Given the description of an element on the screen output the (x, y) to click on. 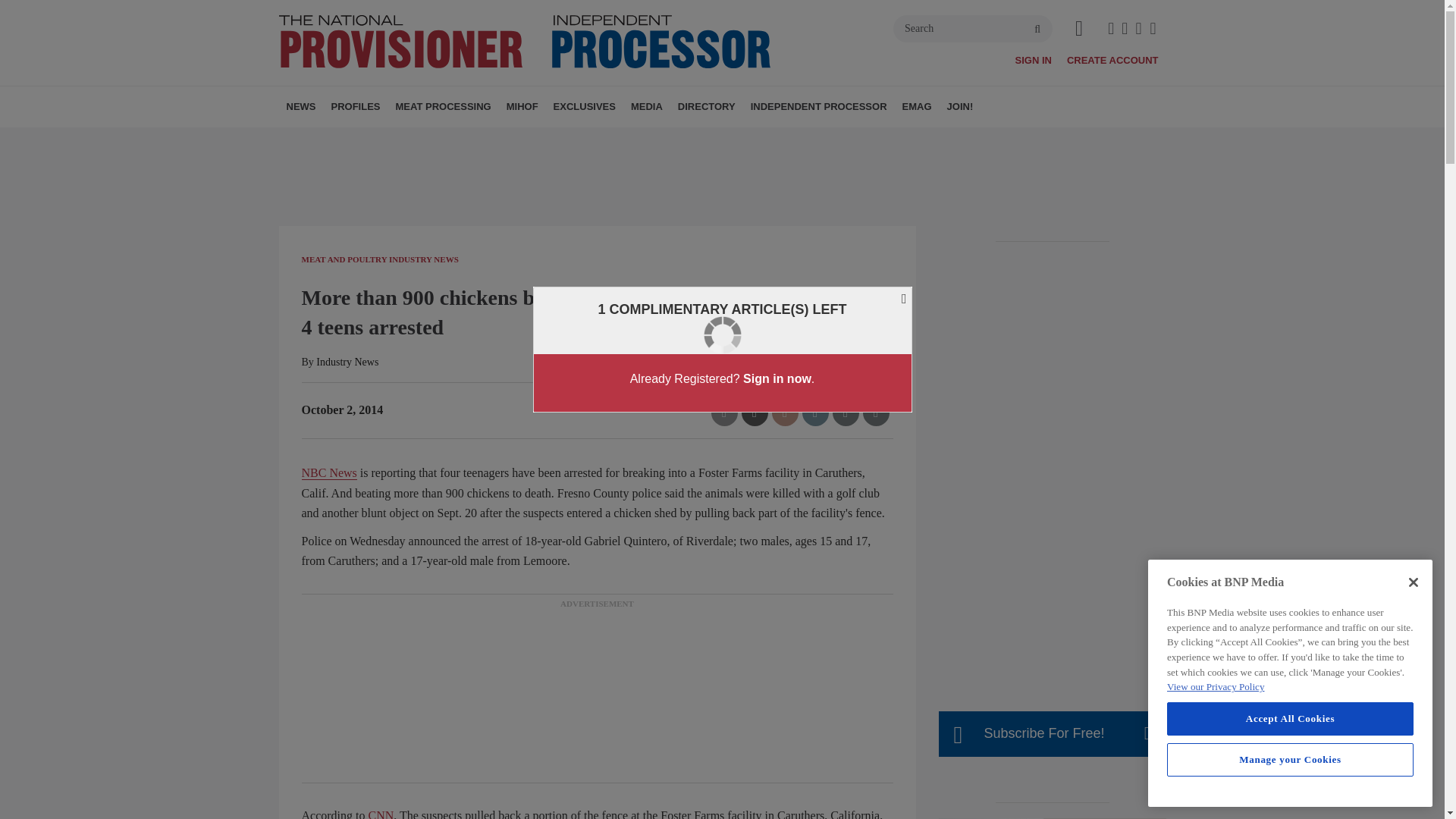
Search (972, 28)
Search (972, 28)
